Given the description of an element on the screen output the (x, y) to click on. 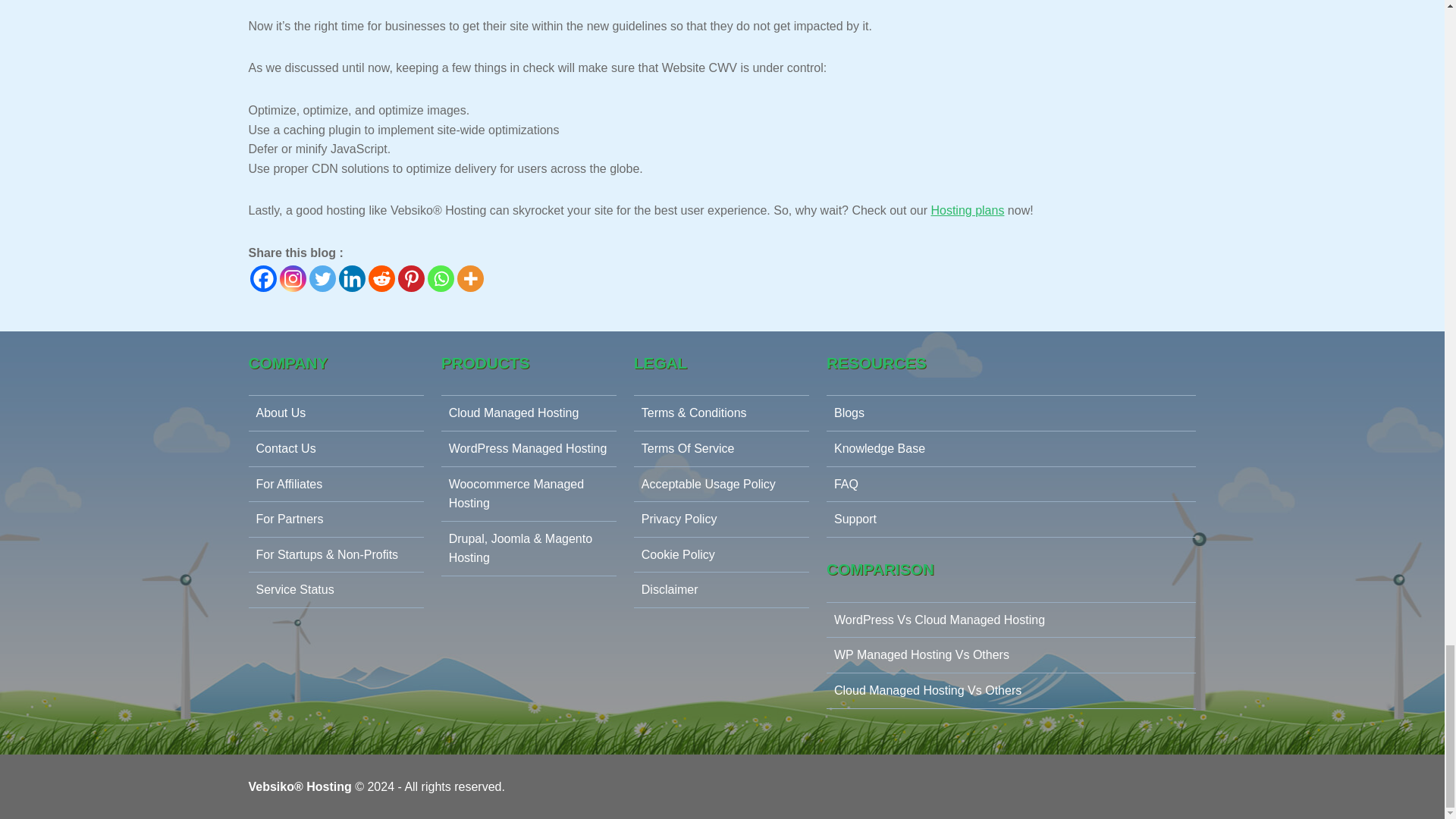
Linkedin (351, 278)
Reddit (381, 278)
Whatsapp (441, 278)
For Affiliates (335, 484)
Service Status (335, 590)
Hosting plans (967, 210)
About Us (335, 412)
Instagram (292, 278)
Cloud Managed Hosting (528, 412)
For Partners (335, 519)
